Given the description of an element on the screen output the (x, y) to click on. 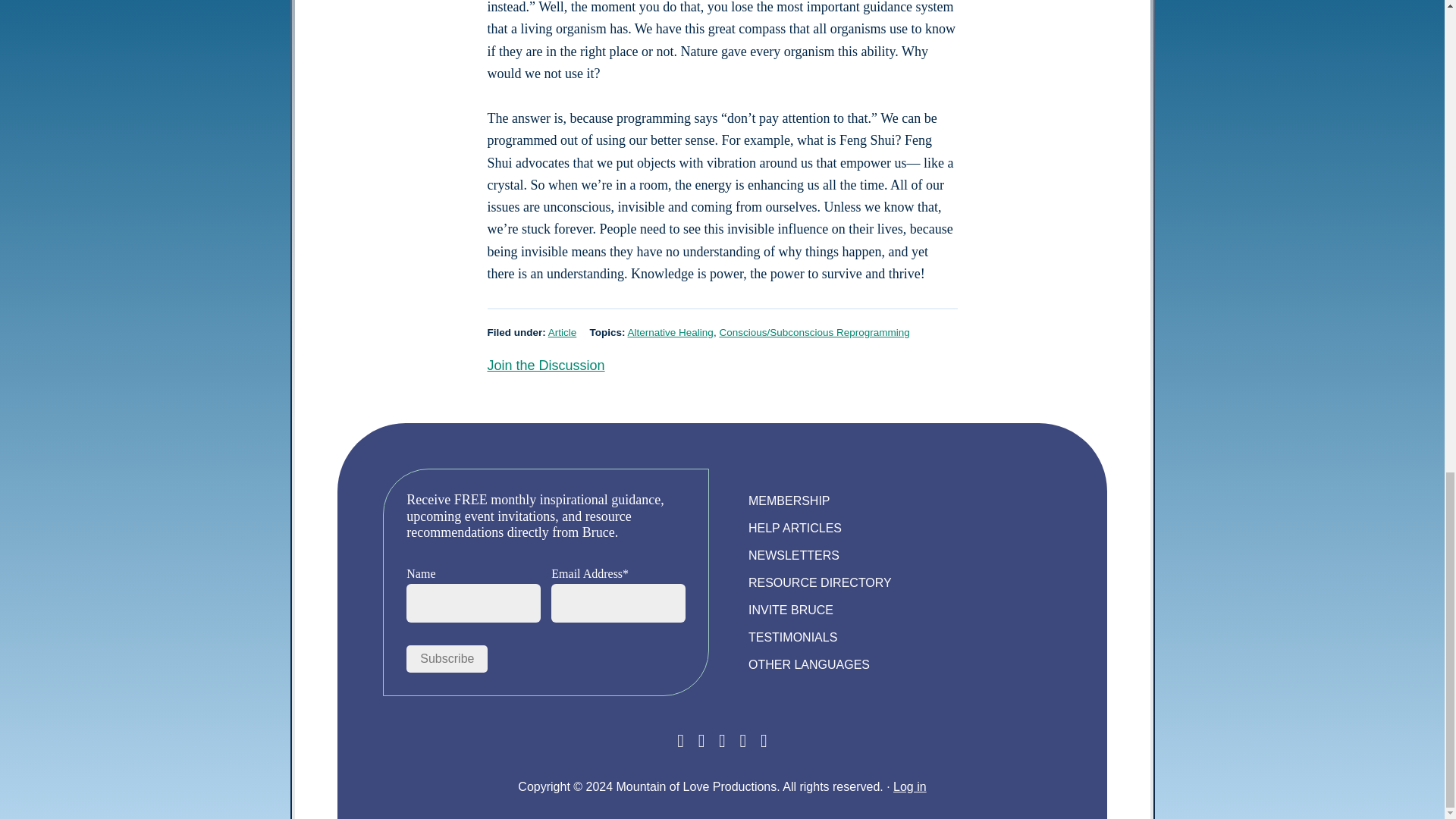
Subscribe (446, 658)
Join the Discussion (545, 365)
Subscribe (446, 658)
Article (562, 332)
Alternative Healing (670, 332)
